Given the description of an element on the screen output the (x, y) to click on. 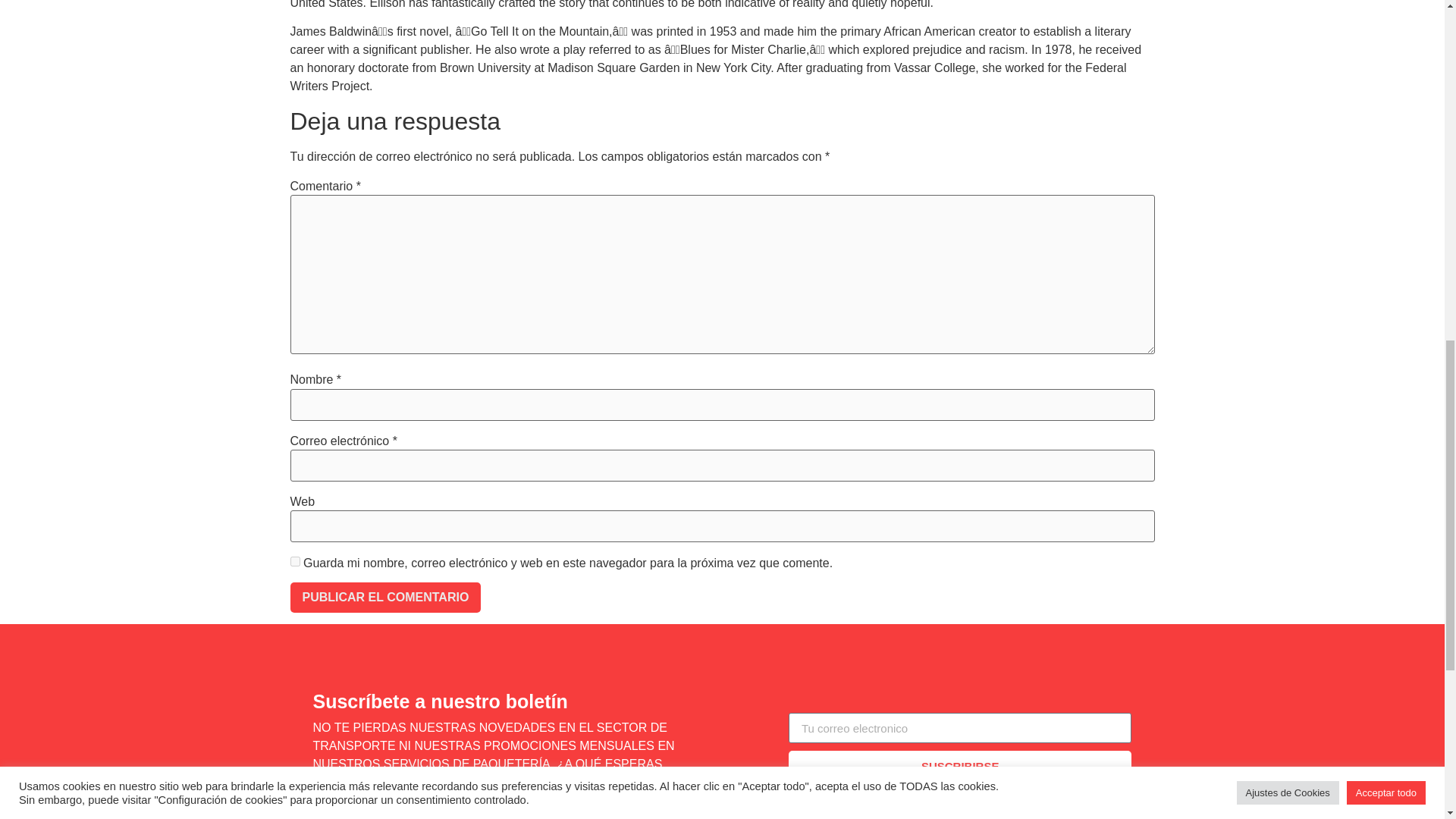
yes (294, 561)
Publicar el comentario (384, 597)
